Given the description of an element on the screen output the (x, y) to click on. 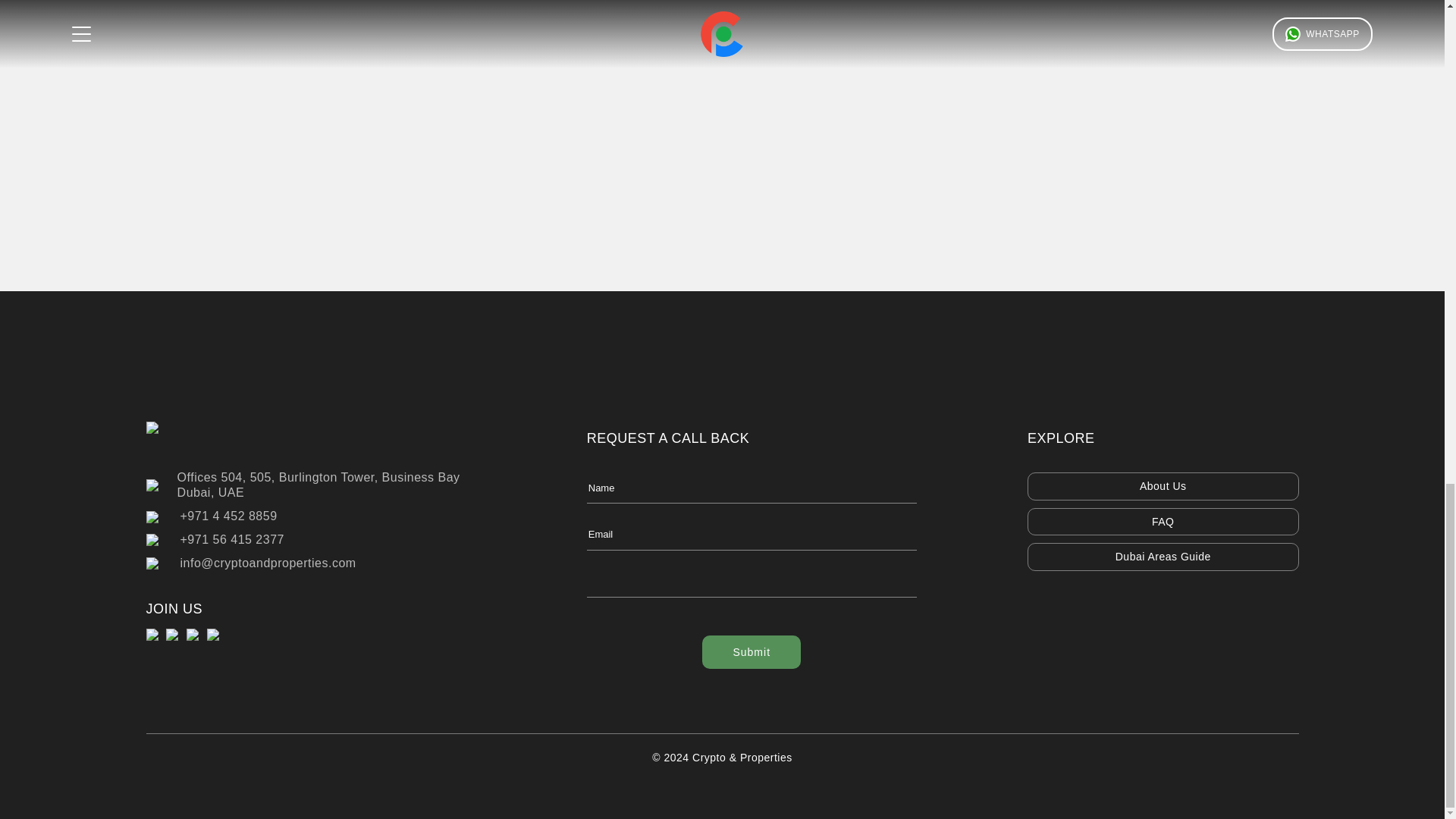
LinkedIn (175, 635)
Twitter (215, 635)
Instagram (285, 99)
Facebook (565, 99)
